Given the description of an element on the screen output the (x, y) to click on. 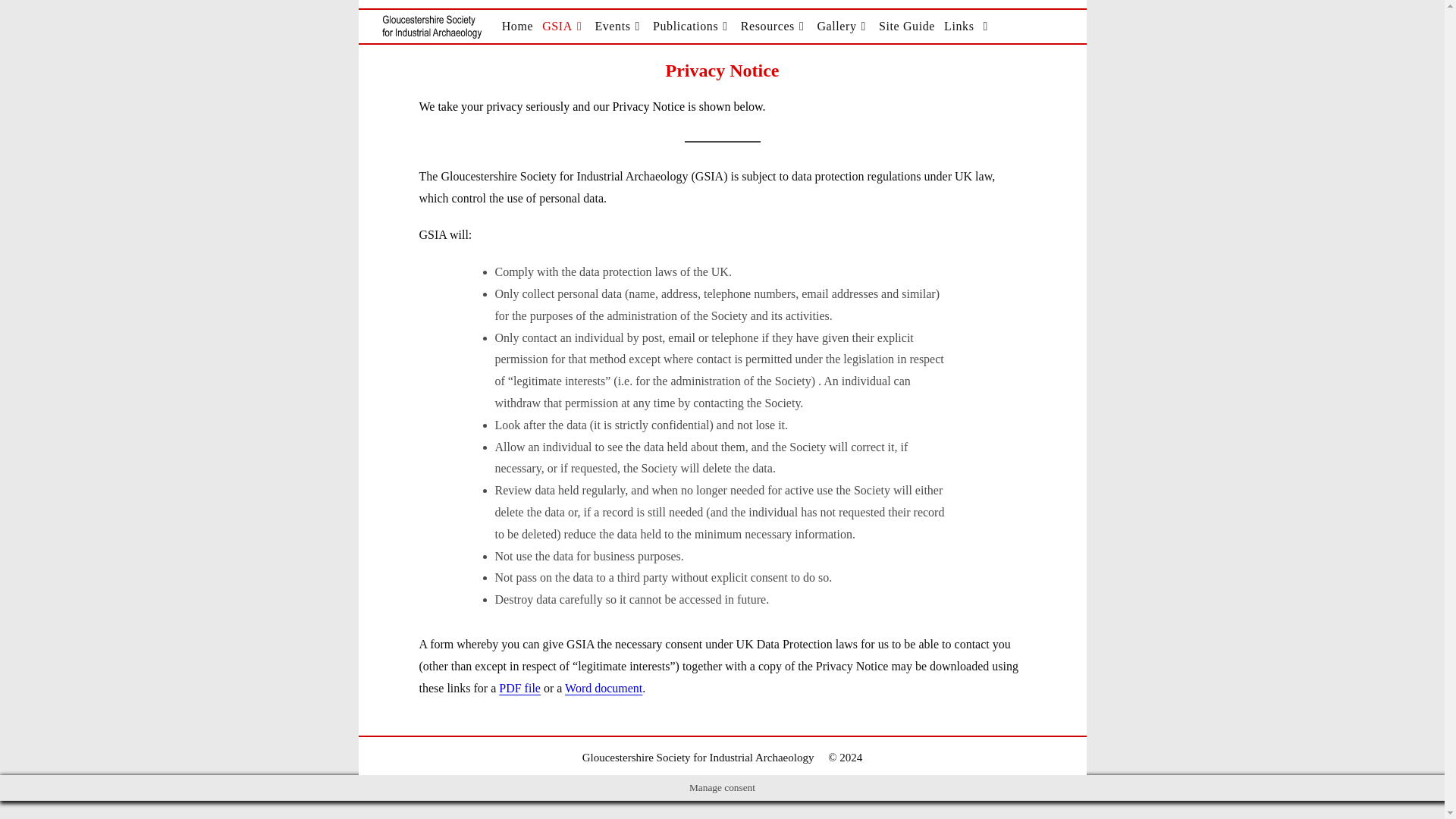
Home (517, 26)
Links (958, 26)
Events (618, 26)
GSIA (563, 26)
Gallery (843, 26)
Site Guide (907, 26)
Resources (774, 26)
Publications (691, 26)
